Given the description of an element on the screen output the (x, y) to click on. 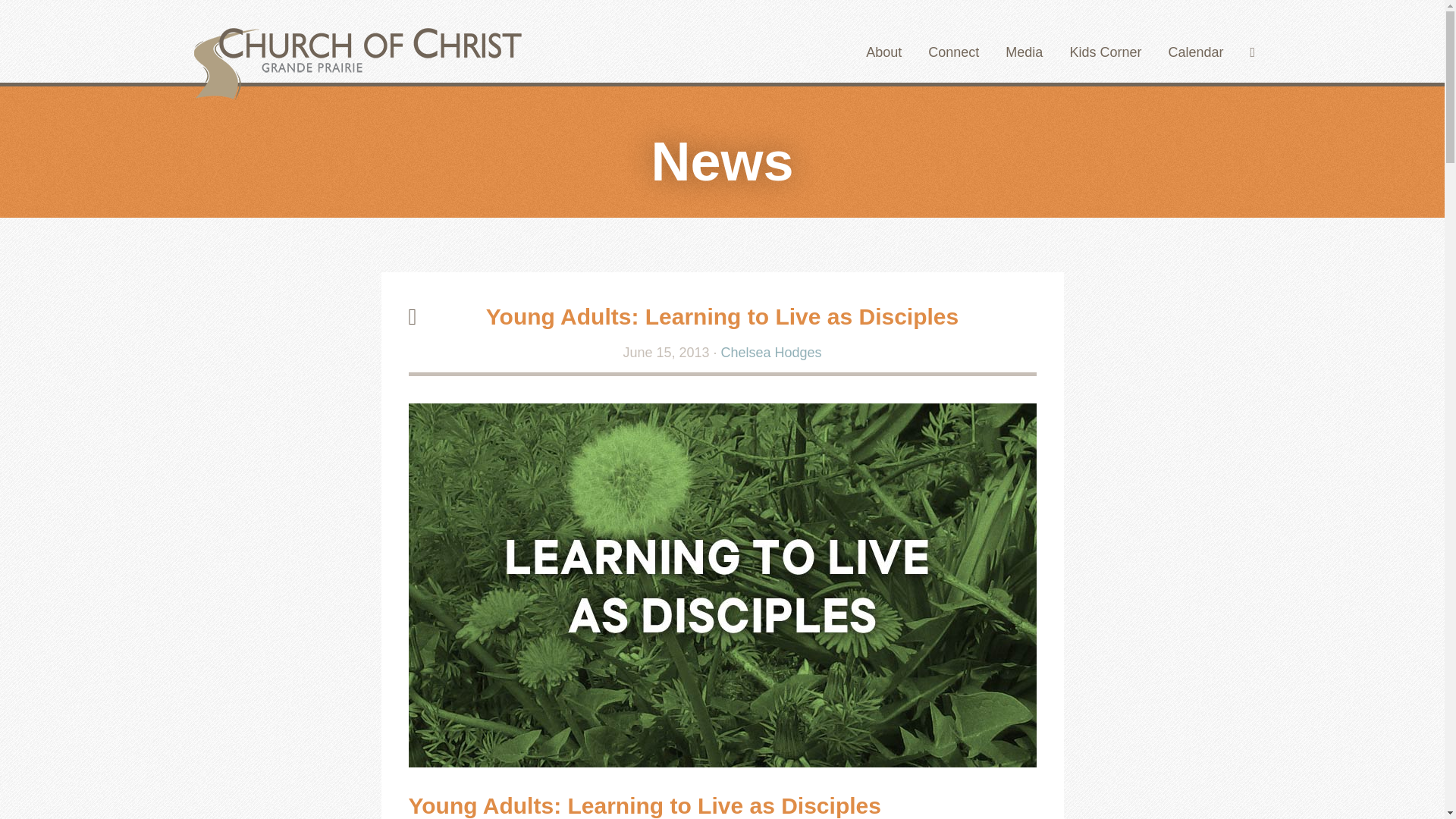
Kids Corner (1104, 52)
Visit (883, 52)
Skip to content (906, 51)
View Author Details (771, 352)
Calendar (1195, 52)
Grande Prairie Church of Christ (355, 55)
Kids Corner (1104, 52)
Connect (953, 52)
Chelsea Hodges (771, 352)
About (883, 52)
Search (1252, 52)
Media (1024, 52)
Grande Prairie Church of Christ (355, 55)
Media (1024, 52)
Calendar (1195, 52)
